Given the description of an element on the screen output the (x, y) to click on. 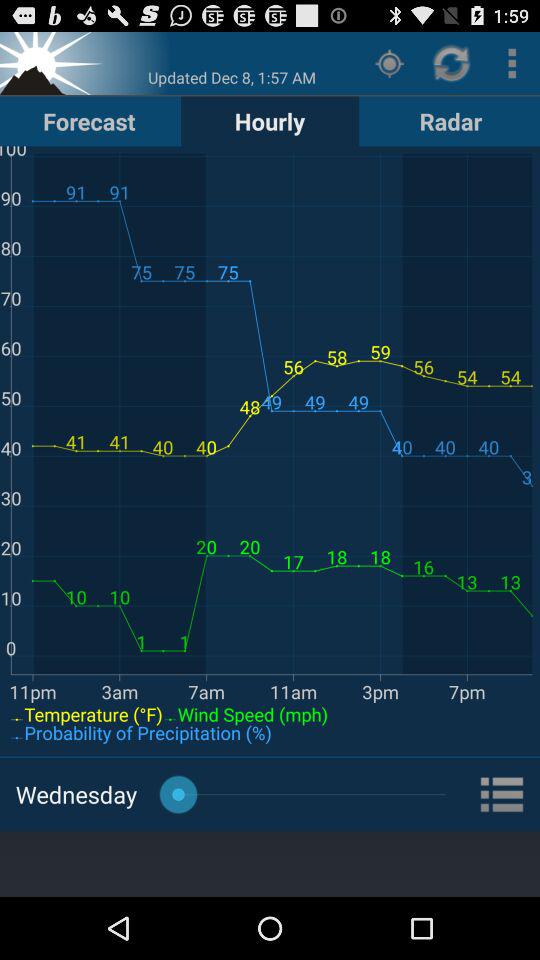
turn on icon to the left of the hourly icon (89, 120)
